Given the description of an element on the screen output the (x, y) to click on. 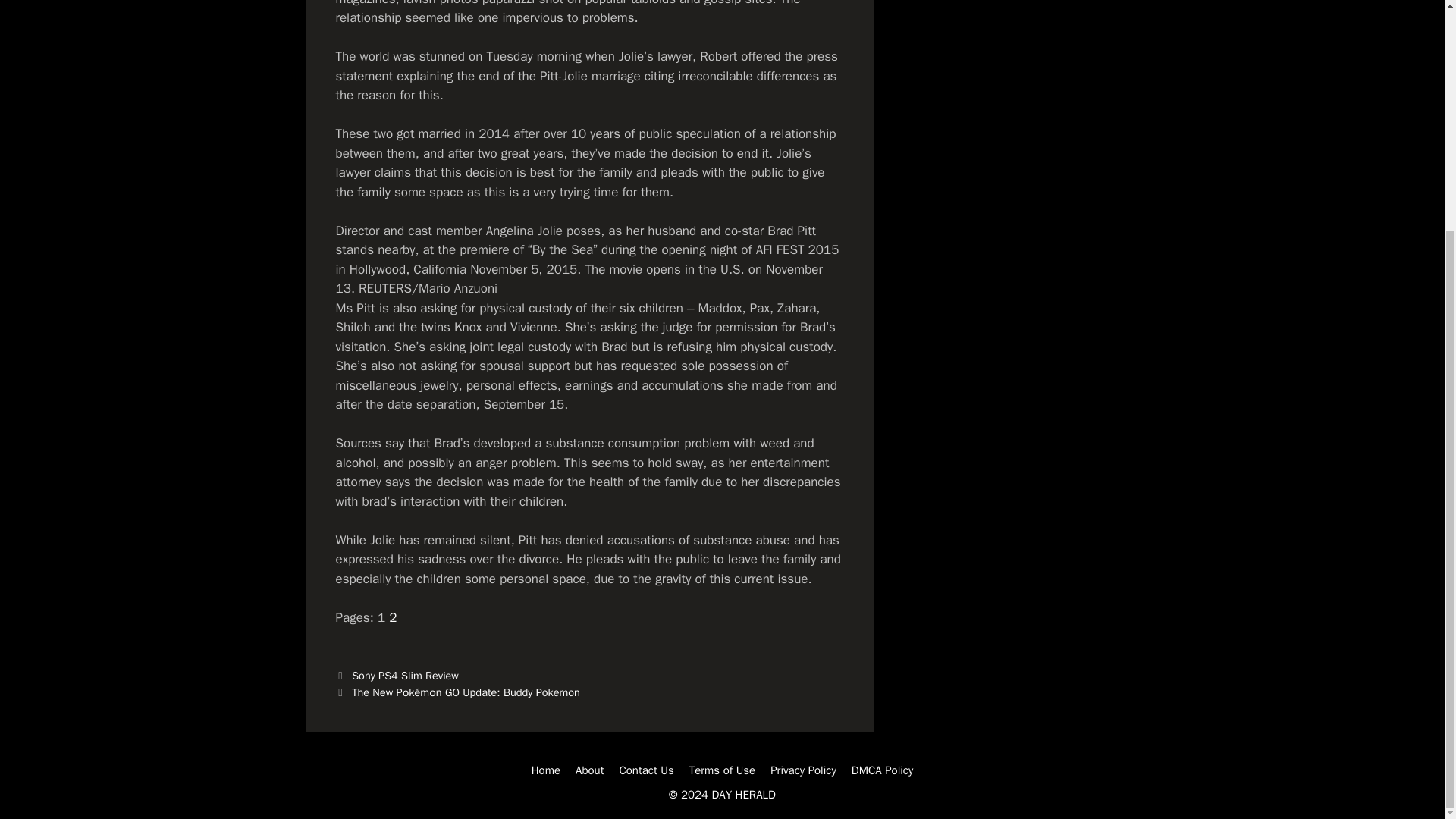
Sony PS4 Slim Review (405, 675)
Terms of Use (721, 770)
About (589, 770)
DMCA Policy (882, 770)
Contact Us (645, 770)
Privacy Policy (802, 770)
Home (545, 770)
